Given the description of an element on the screen output the (x, y) to click on. 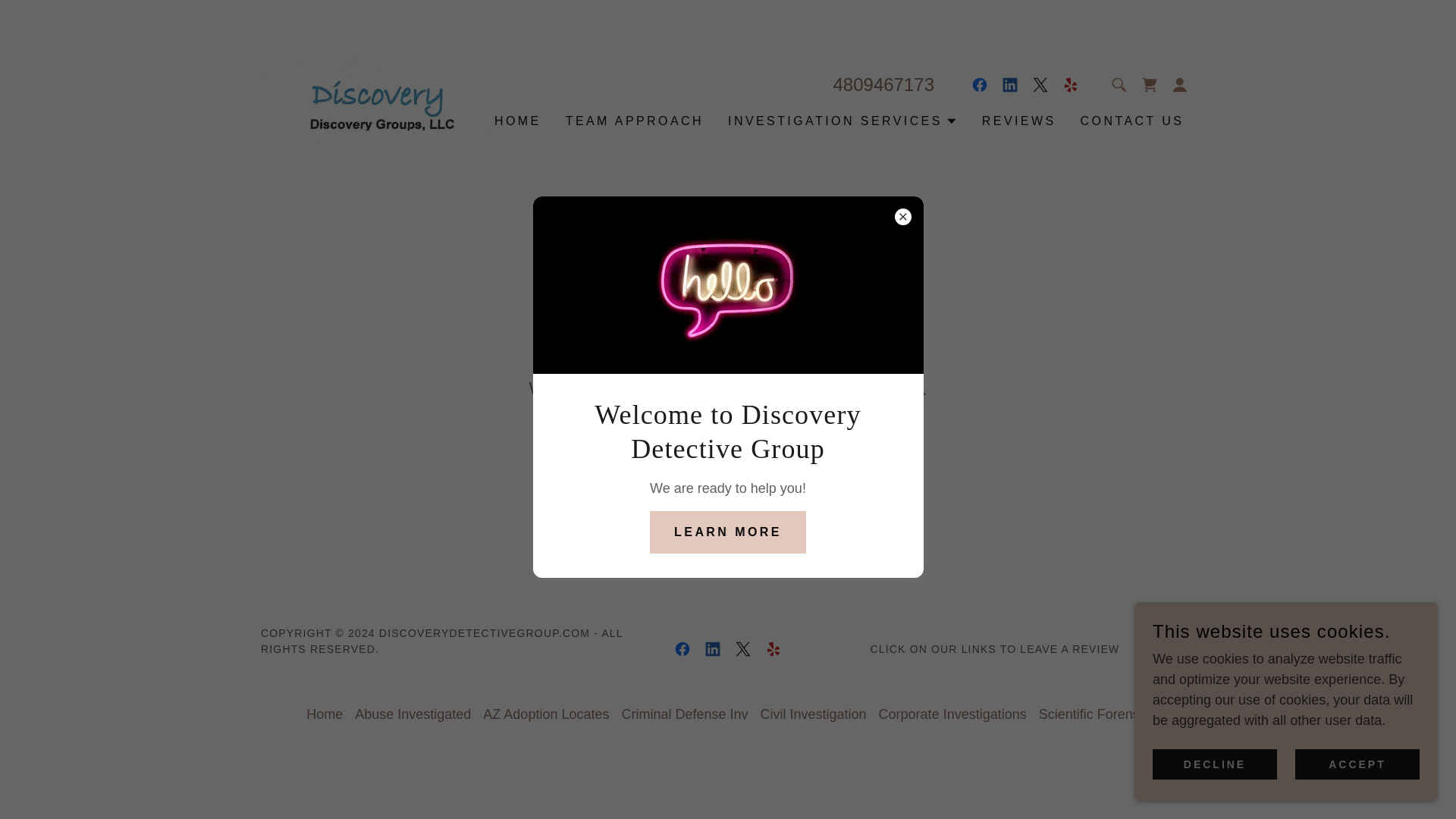
HOME (517, 121)
REVIEWS (1018, 121)
TEAM APPROACH (633, 121)
discoverydetectivegroup.com (377, 99)
INVESTIGATION SERVICES (843, 121)
CONTACT US (1132, 121)
4809467173 (883, 84)
